Given the description of an element on the screen output the (x, y) to click on. 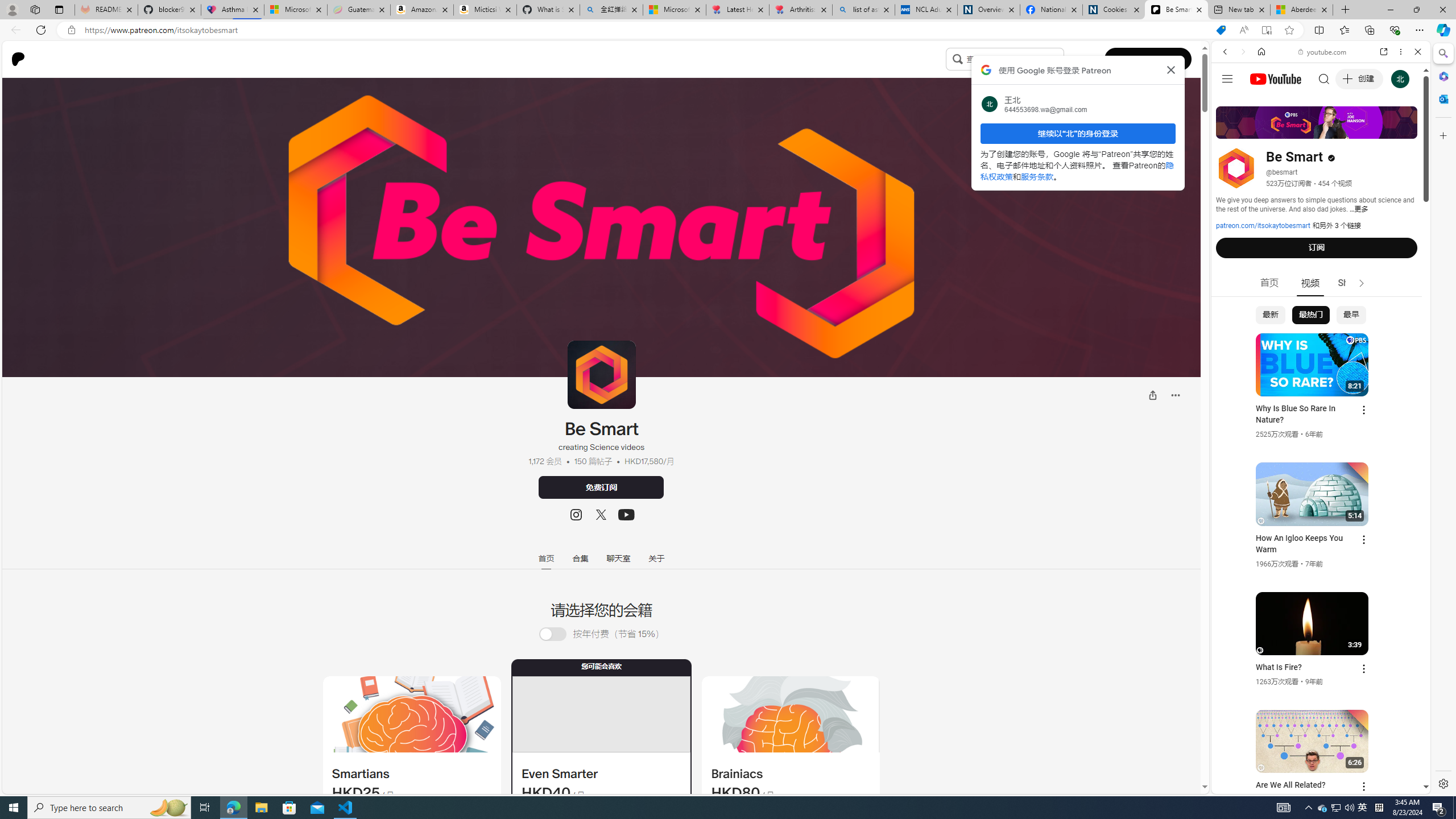
Class: Bz112c Bz112c-r9oPif (1170, 69)
list of asthma inhalers uk - Search (863, 9)
YouTube - YouTube (1315, 560)
VIDEOS (1300, 130)
Class: style-scope tp-yt-iron-icon (1361, 283)
Be Smart | creating Science videos | Patreon (1176, 9)
